Given the description of an element on the screen output the (x, y) to click on. 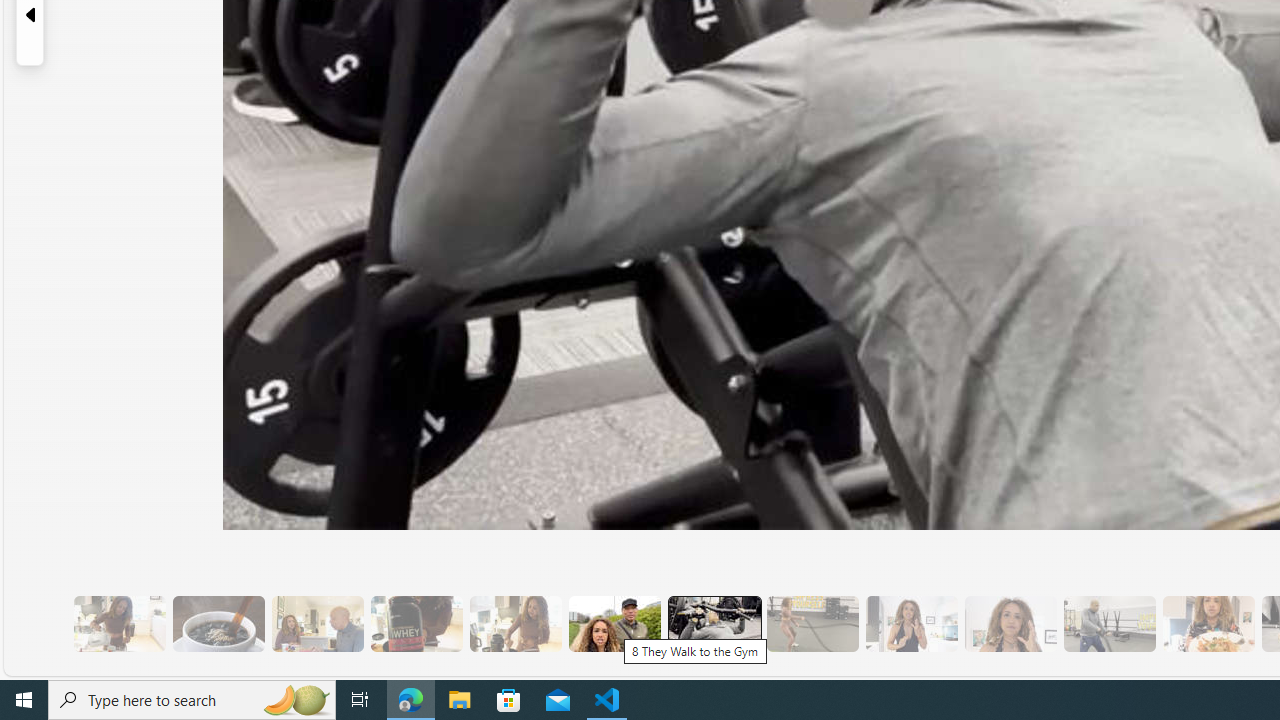
11 They Eat More Protein for Breakfast (911, 624)
14 They Have Salmon and Veggies for Dinner (1208, 624)
3 They Drink Lemon Tea (119, 624)
7 They Don't Skip Meals (514, 624)
3 They Drink Lemon Tea (119, 624)
8 They Walk to the Gym (614, 624)
10 Then, They Do HIIT Cardio (811, 624)
9 They Do Bench Exercises (713, 624)
9 They Do Bench Exercises (713, 624)
6 Since Eating More Protein Her Training Has Improved (416, 624)
14 They Have Salmon and Veggies for Dinner (1208, 624)
13 Her Husband Does Group Cardio Classs (1108, 624)
13 Her Husband Does Group Cardio Classs (1108, 624)
10 Then, They Do HIIT Cardio (811, 624)
